Given the description of an element on the screen output the (x, y) to click on. 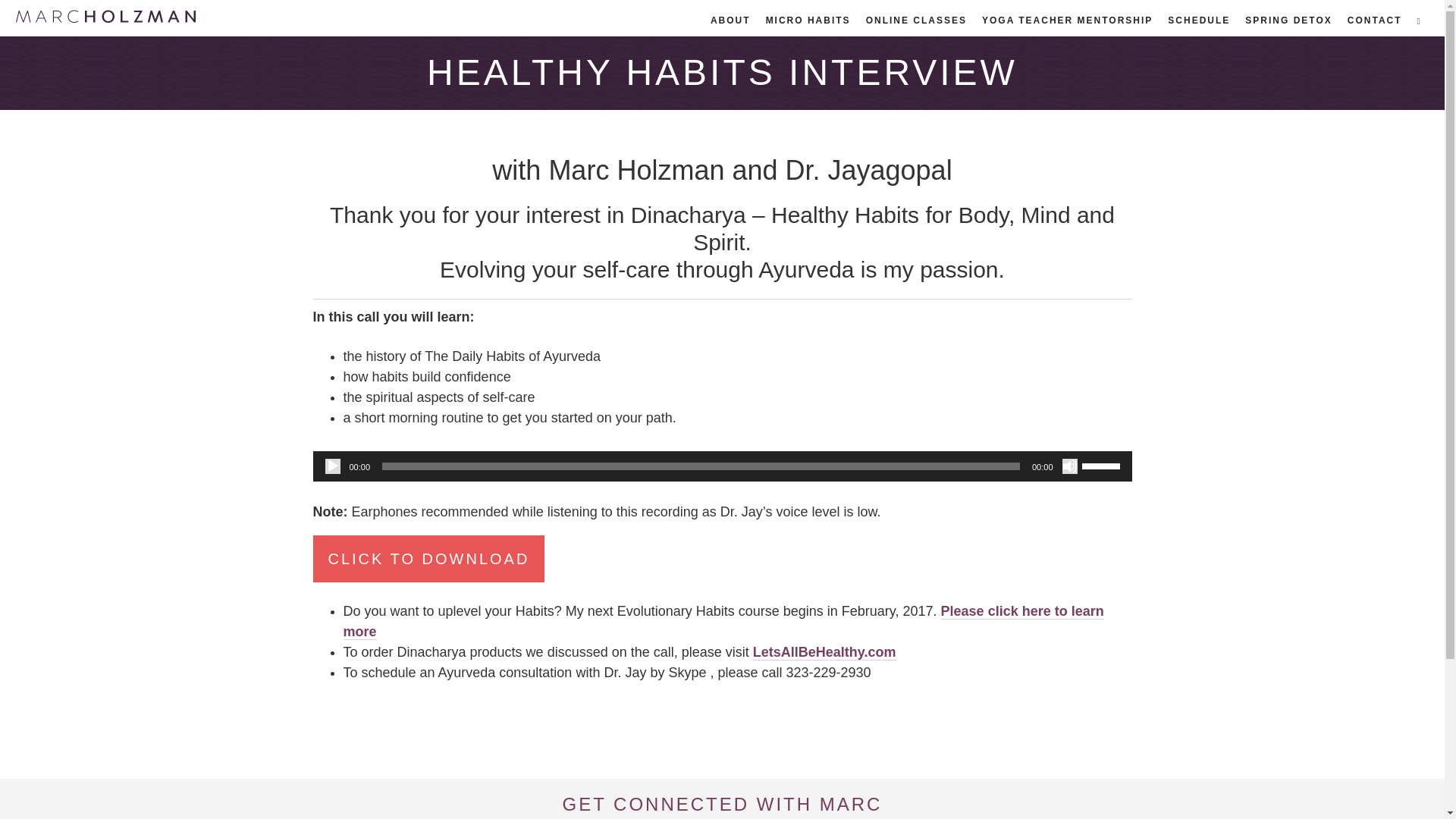
MICRO HABITS (808, 20)
Please click here to learn more (722, 621)
ABOUT (730, 20)
Play (331, 466)
CONTACT (1374, 20)
YOGA TEACHER MENTORSHIP (1067, 20)
CLICK TO DOWNLOAD (428, 558)
Mute (1069, 466)
SCHEDULE (1198, 20)
SPRING DETOX (1288, 20)
MARC HOLZMAN (105, 15)
LetsAllBeHealthy.com (824, 652)
ONLINE CLASSES (916, 20)
